Given the description of an element on the screen output the (x, y) to click on. 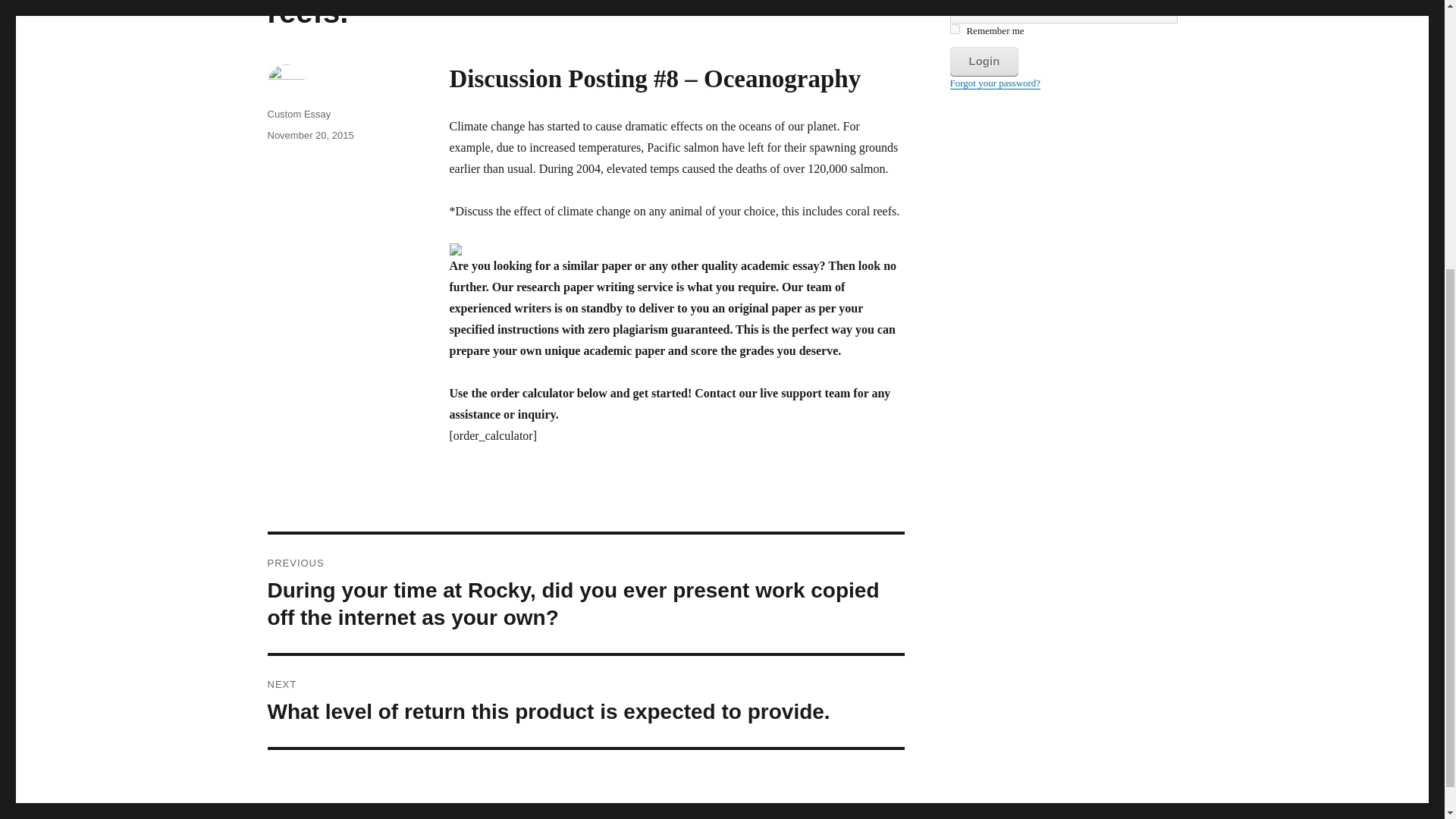
Custom Essay (298, 113)
Recover password (995, 82)
November 20, 2015 (309, 134)
click to Login (983, 61)
on (954, 29)
Click to Order (676, 249)
